Given the description of an element on the screen output the (x, y) to click on. 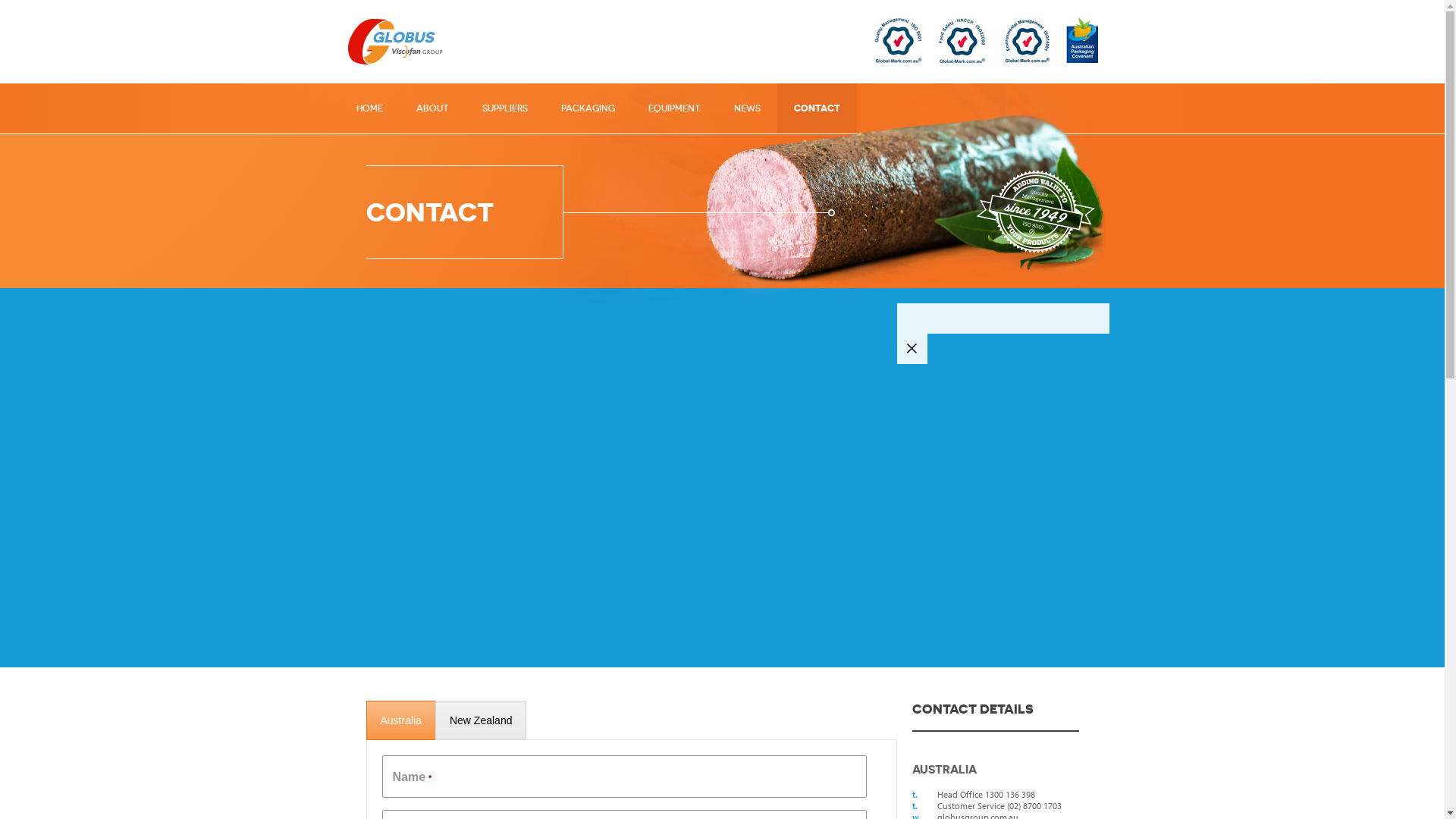
SUPPLIERS Element type: text (504, 108)
HOME Element type: text (369, 108)
Show All Element type: text (911, 348)
PACKAGING Element type: text (587, 108)
NEWS Element type: text (747, 108)
ABOUT Element type: text (431, 108)
New Zealand Element type: text (481, 720)
CONTACT Element type: text (816, 108)
EQUIPMENT Element type: text (673, 108)
Australia Element type: text (400, 720)
Globus Group Element type: text (402, 42)
